Given the description of an element on the screen output the (x, y) to click on. 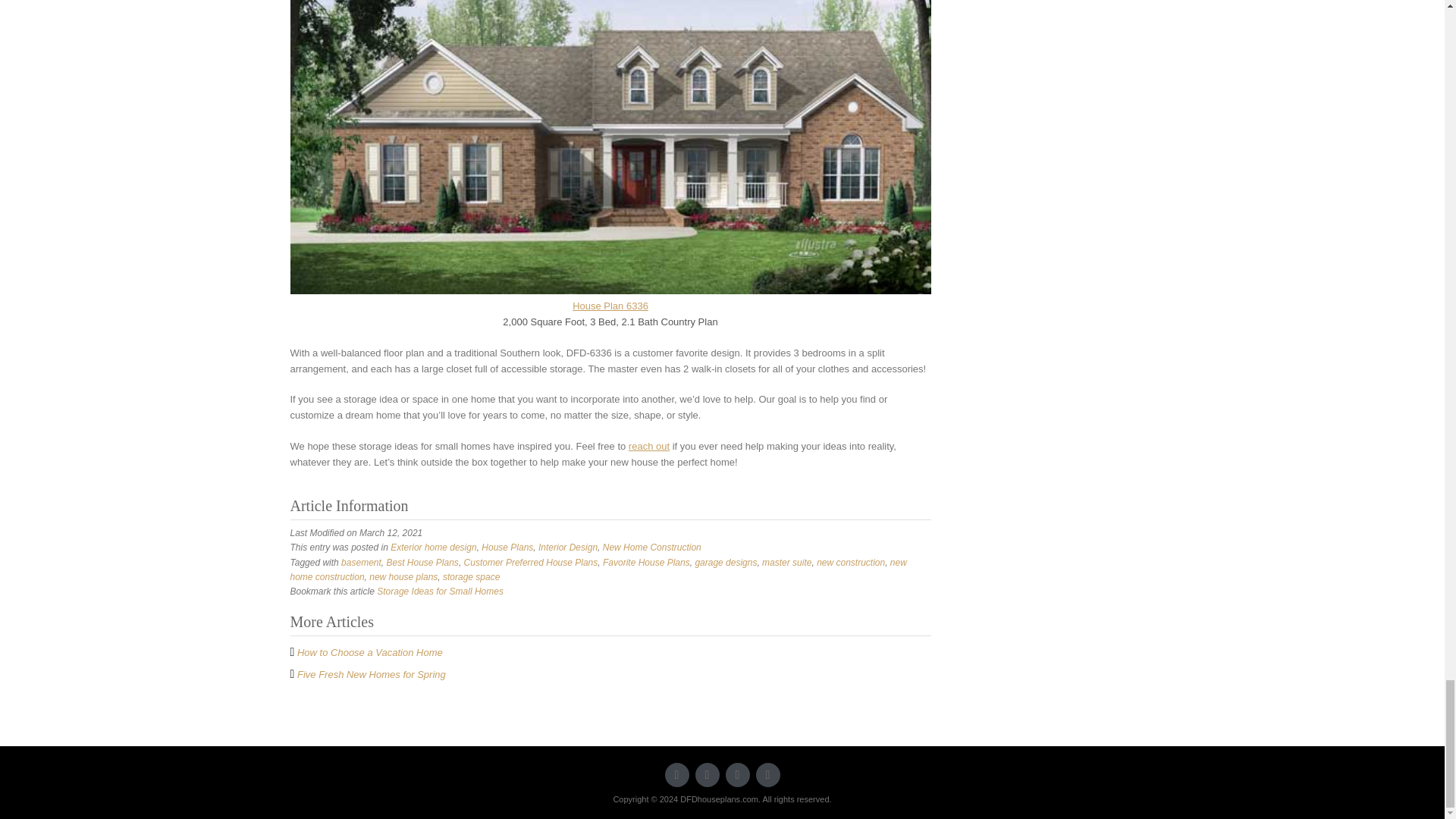
Customer Preferred House Plans (531, 562)
House Plans (506, 547)
Twitter (675, 774)
garage designs (725, 562)
How to Choose a Vacation Home (369, 652)
reach out (648, 446)
Facebook (706, 774)
new home construction (597, 569)
new house plans (403, 576)
Pinterest (766, 774)
Storage Ideas for Small Homes (440, 591)
Favorite House Plans (646, 562)
Best House Plans (421, 562)
Exterior home design (433, 547)
new construction (850, 562)
